Given the description of an element on the screen output the (x, y) to click on. 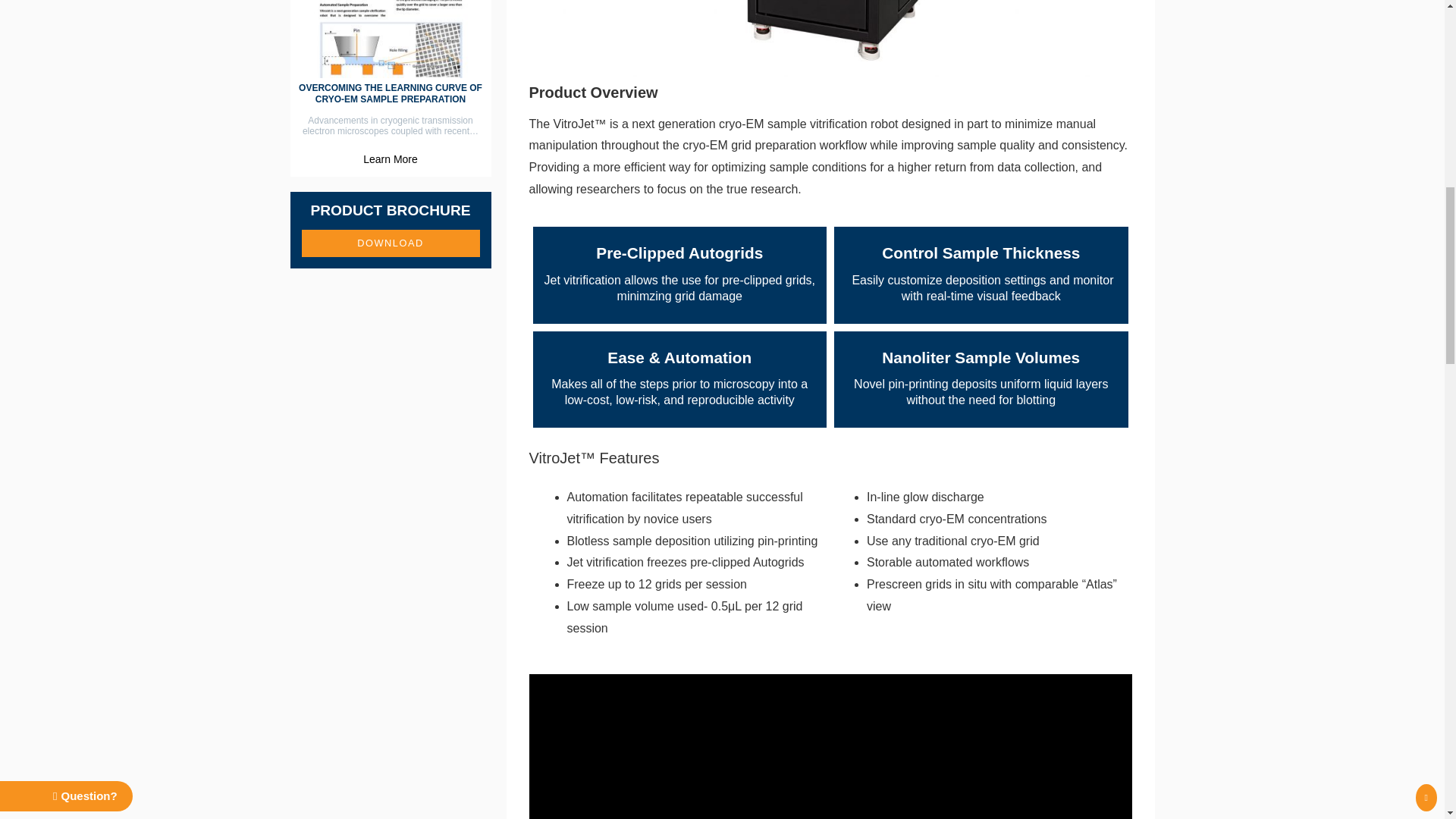
vimeo Video Player (830, 746)
